Given the description of an element on the screen output the (x, y) to click on. 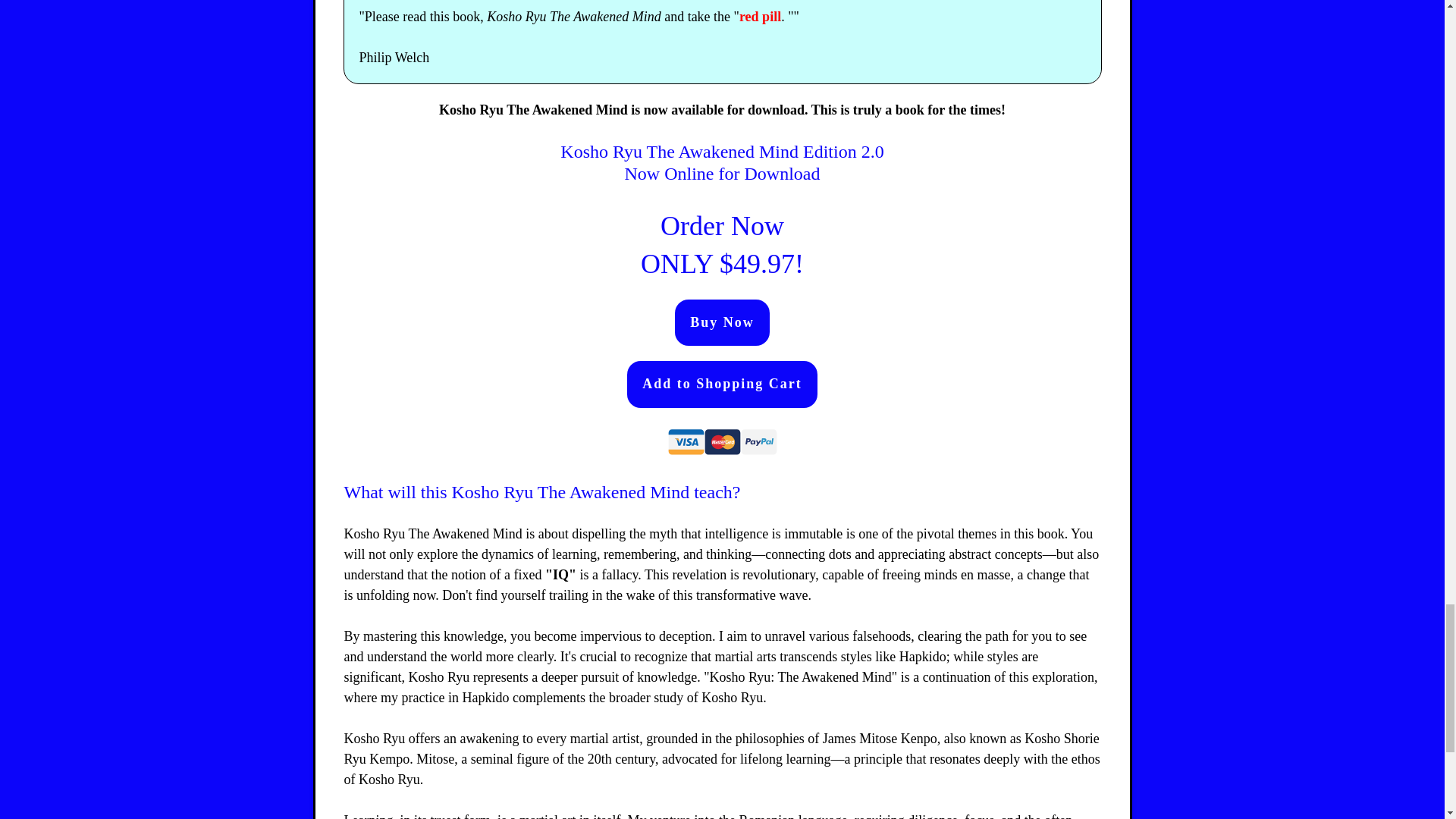
Buy Now (722, 322)
Add to Shopping Cart (721, 384)
